Given the description of an element on the screen output the (x, y) to click on. 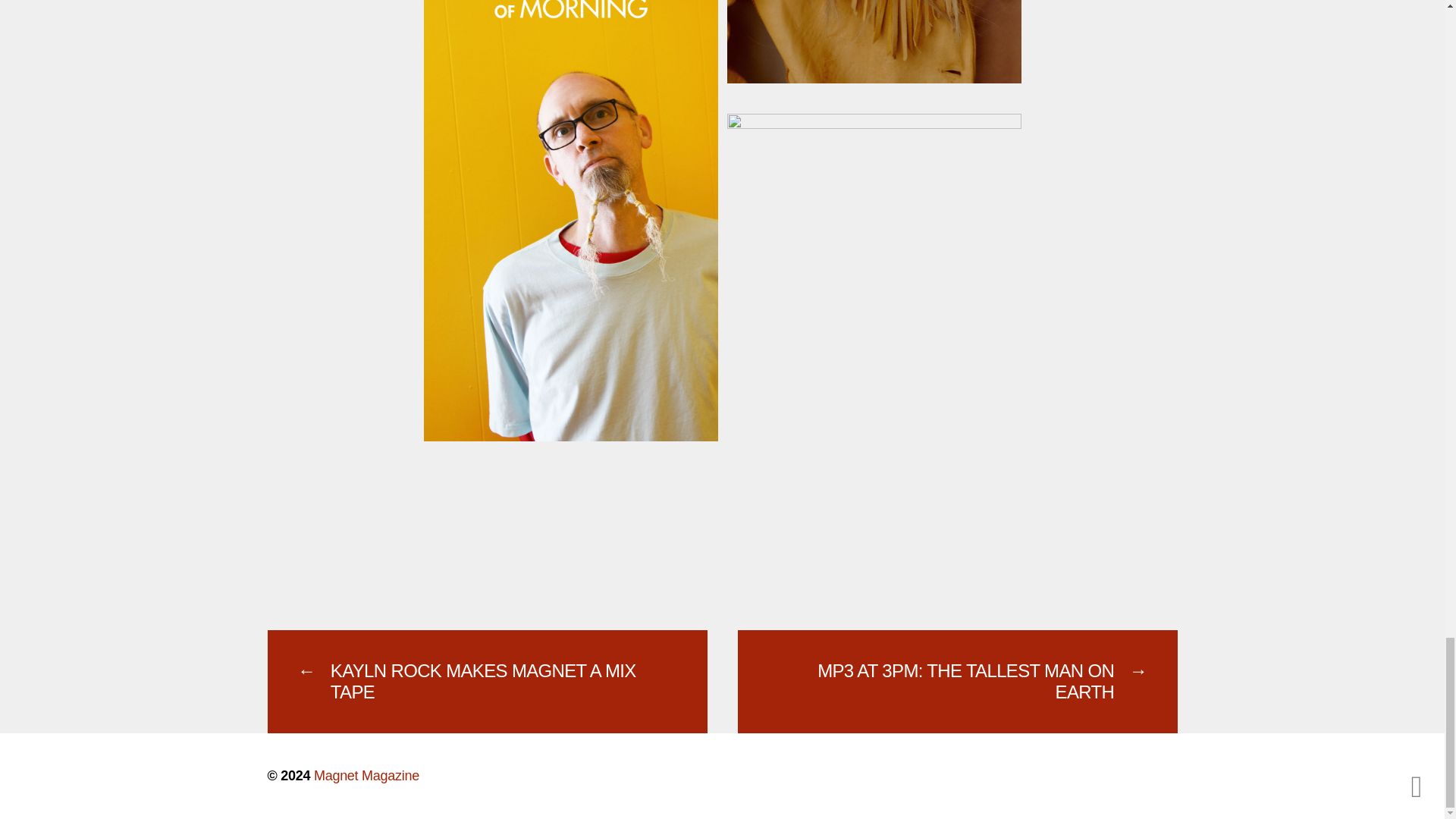
Magnet Magazine (366, 775)
